Given the description of an element on the screen output the (x, y) to click on. 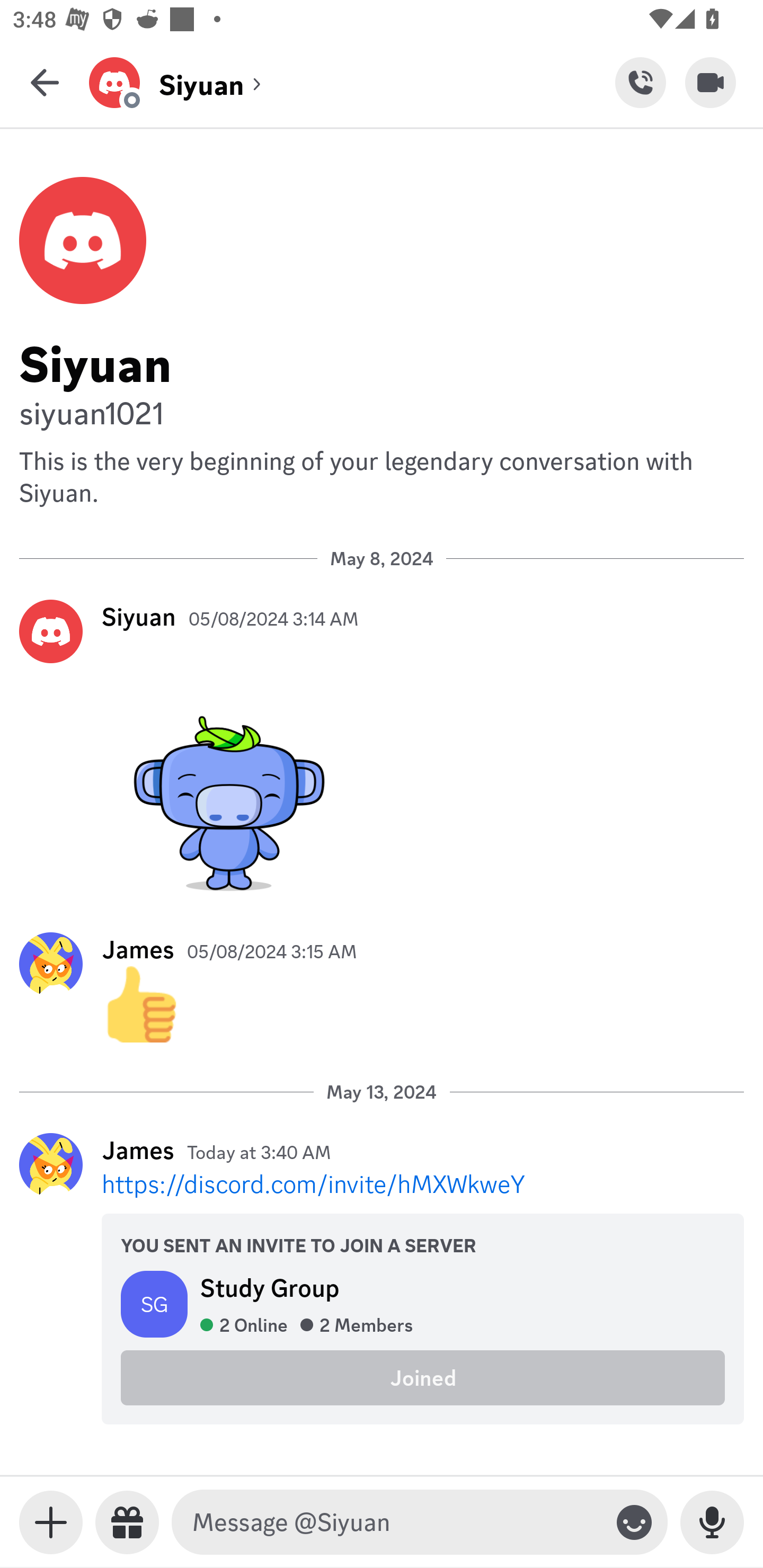
Siyuan (channel) Siyuan Siyuan (channel) (351, 82)
Back (44, 82)
Start Voice Call (640, 82)
Start Video Call (710, 82)
Siyuan (381, 361)
siyuan1021 (381, 412)
Siyuan (138, 615)
James (137, 948)
James (137, 1149)
Joined (422, 1377)
Toggle media keyboard (50, 1522)
Send a gift (126, 1522)
Record Voice Message (711, 1522)
Message @Siyuan (395, 1522)
Toggle emoji keyboard (634, 1522)
